Given the description of an element on the screen output the (x, y) to click on. 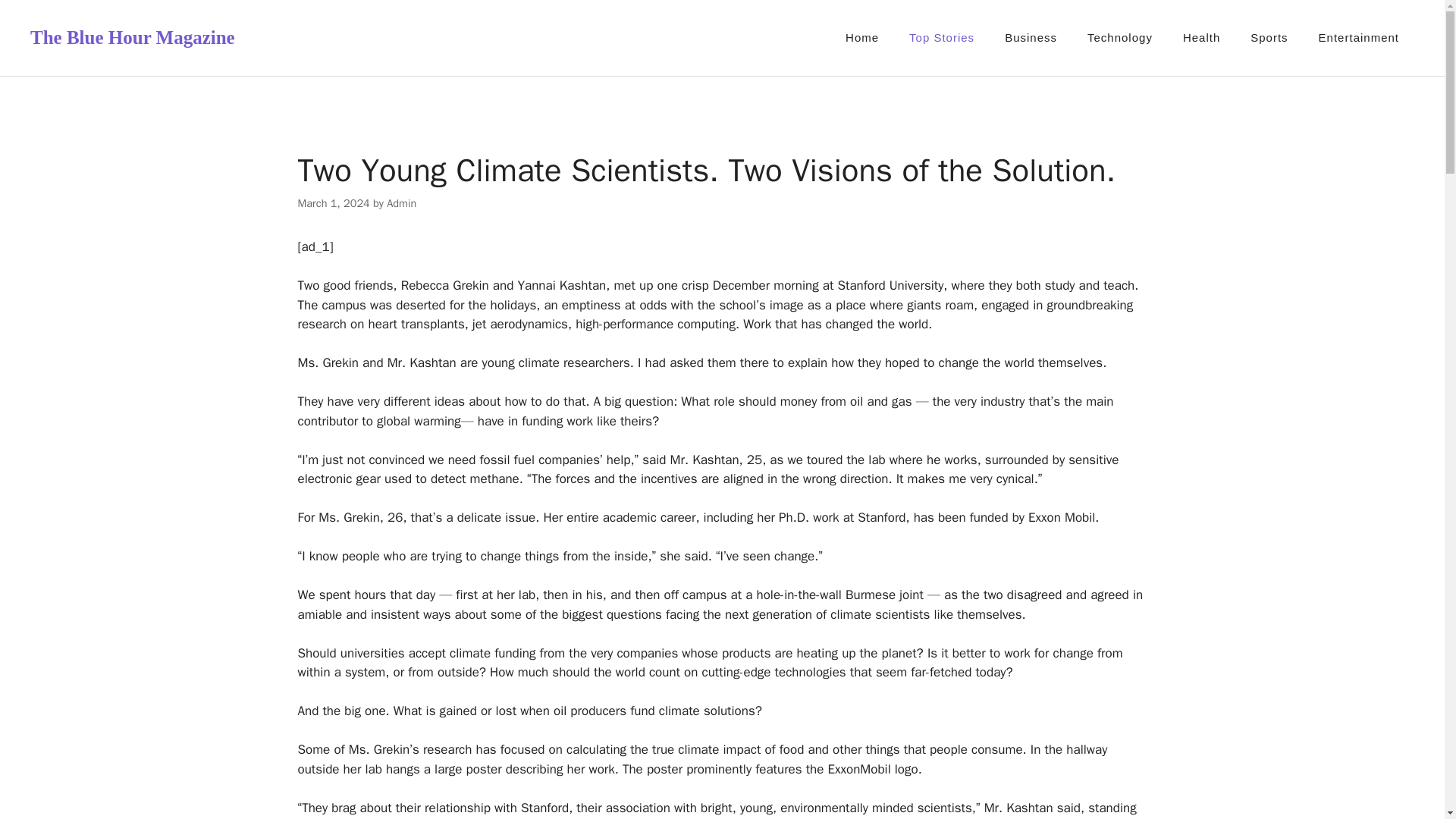
Health (1200, 37)
Business (1030, 37)
Top Stories (941, 37)
Sports (1268, 37)
The Blue Hour Magazine (132, 37)
Admin (401, 202)
Technology (1119, 37)
View all posts by Admin (401, 202)
Home (861, 37)
Entertainment (1358, 37)
